Given the description of an element on the screen output the (x, y) to click on. 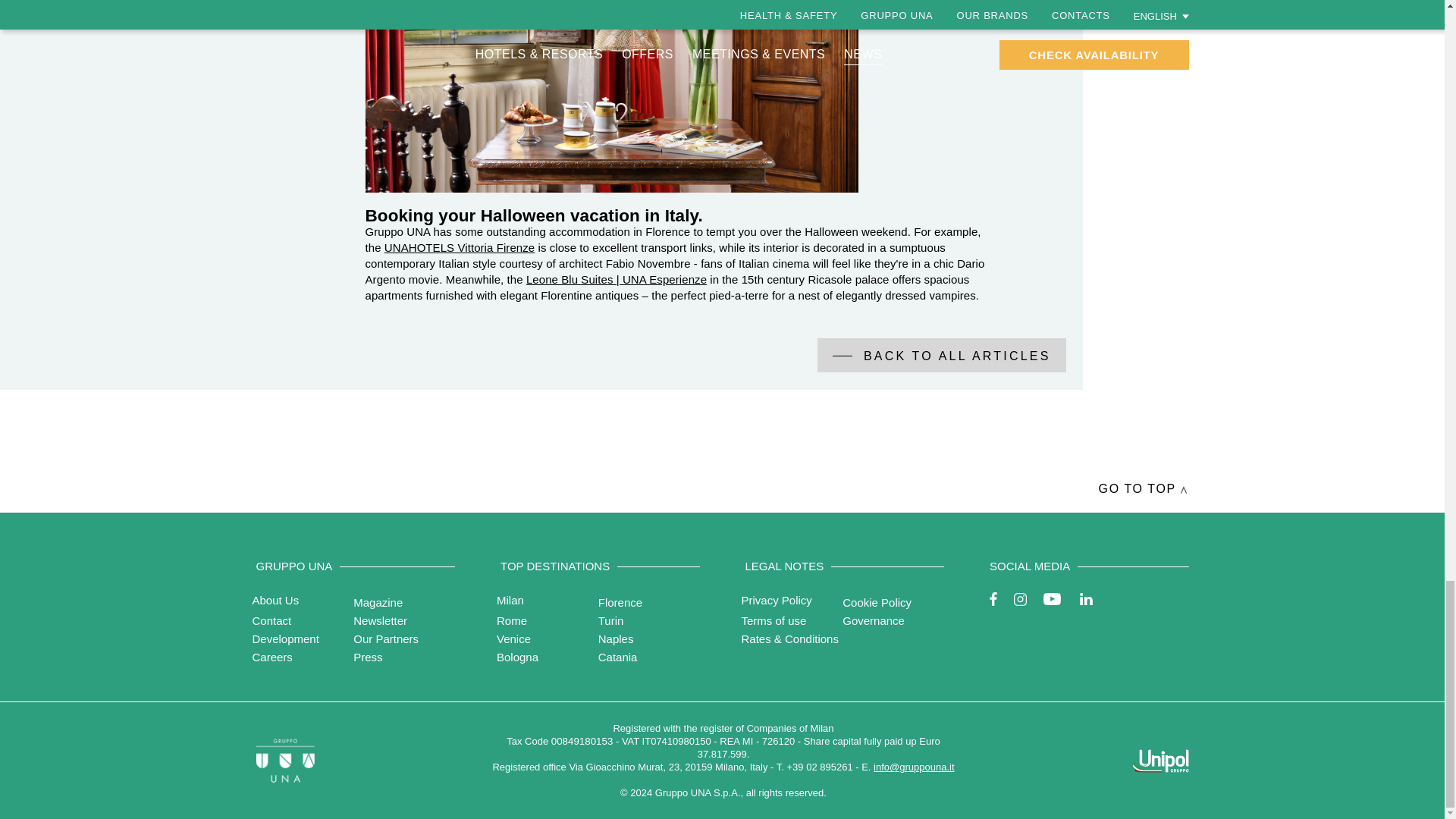
UNAHOTELS Vittoria Firenze (459, 246)
Magazine (378, 602)
BACK TO ALL ARTICLES (940, 355)
Contact (271, 620)
About Us (274, 599)
Our Partners (386, 638)
Development (284, 638)
GO TO TOP (1142, 488)
GO TO TOP (1142, 488)
Press (367, 656)
